Given the description of an element on the screen output the (x, y) to click on. 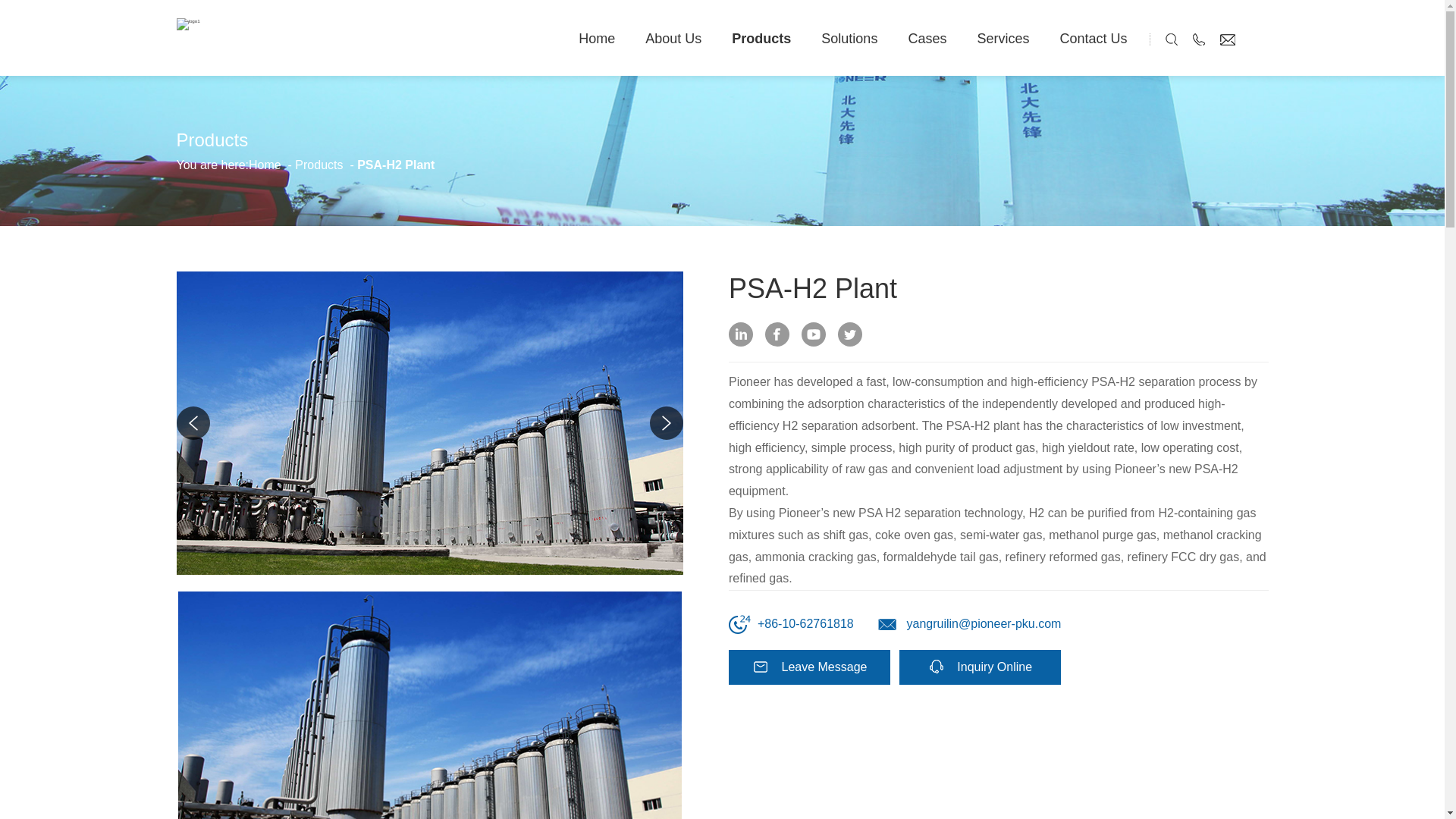
PSA-H2 Plant (429, 705)
logo1 (187, 24)
RU (1258, 38)
About Us (673, 53)
Home (596, 53)
